Given the description of an element on the screen output the (x, y) to click on. 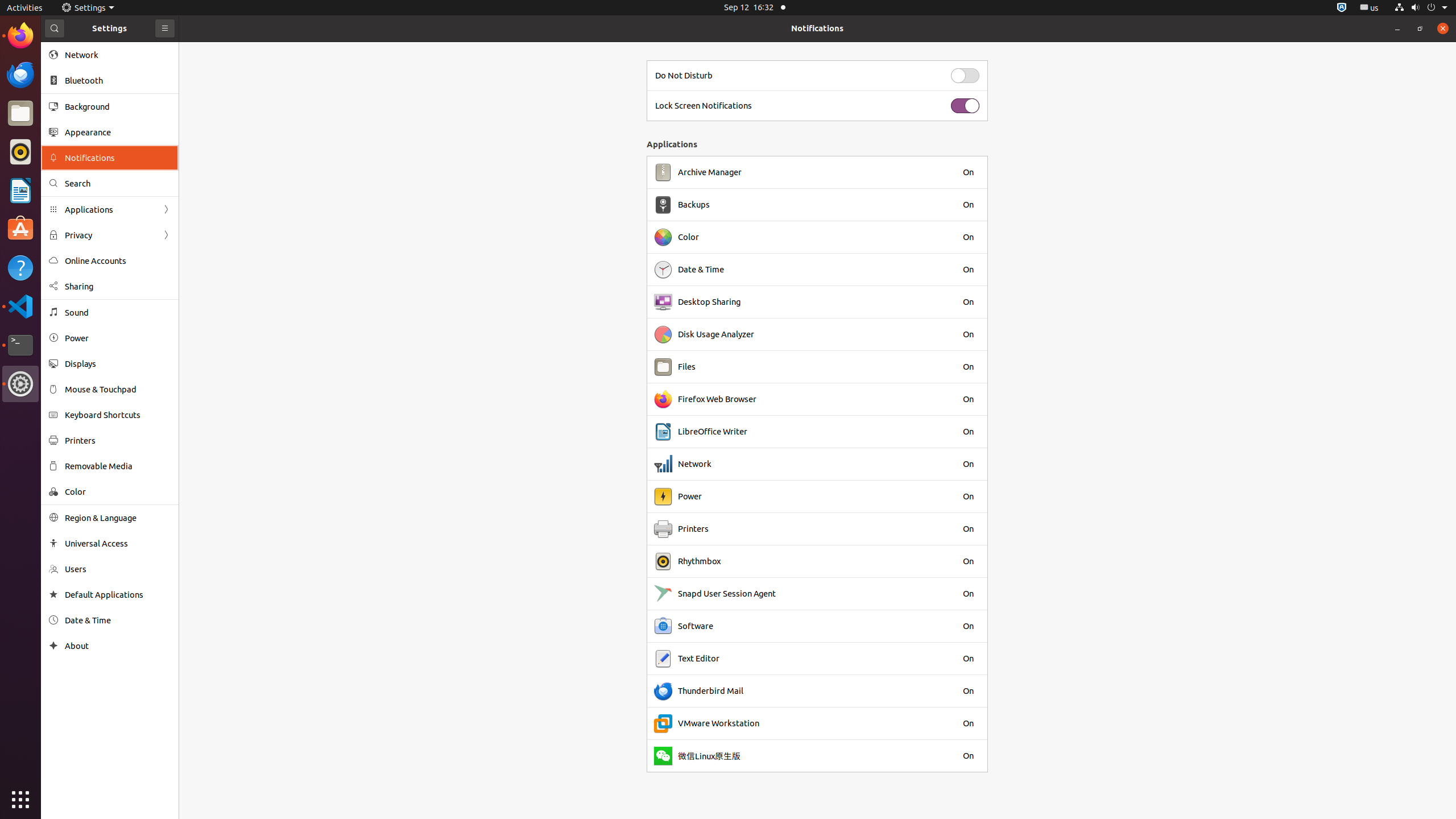
Privacy Element type: label (109, 235)
Displays Element type: label (117, 363)
Backups Element type: label (693, 204)
Software Element type: label (695, 626)
Restore Element type: push-button (1419, 27)
